Given the description of an element on the screen output the (x, y) to click on. 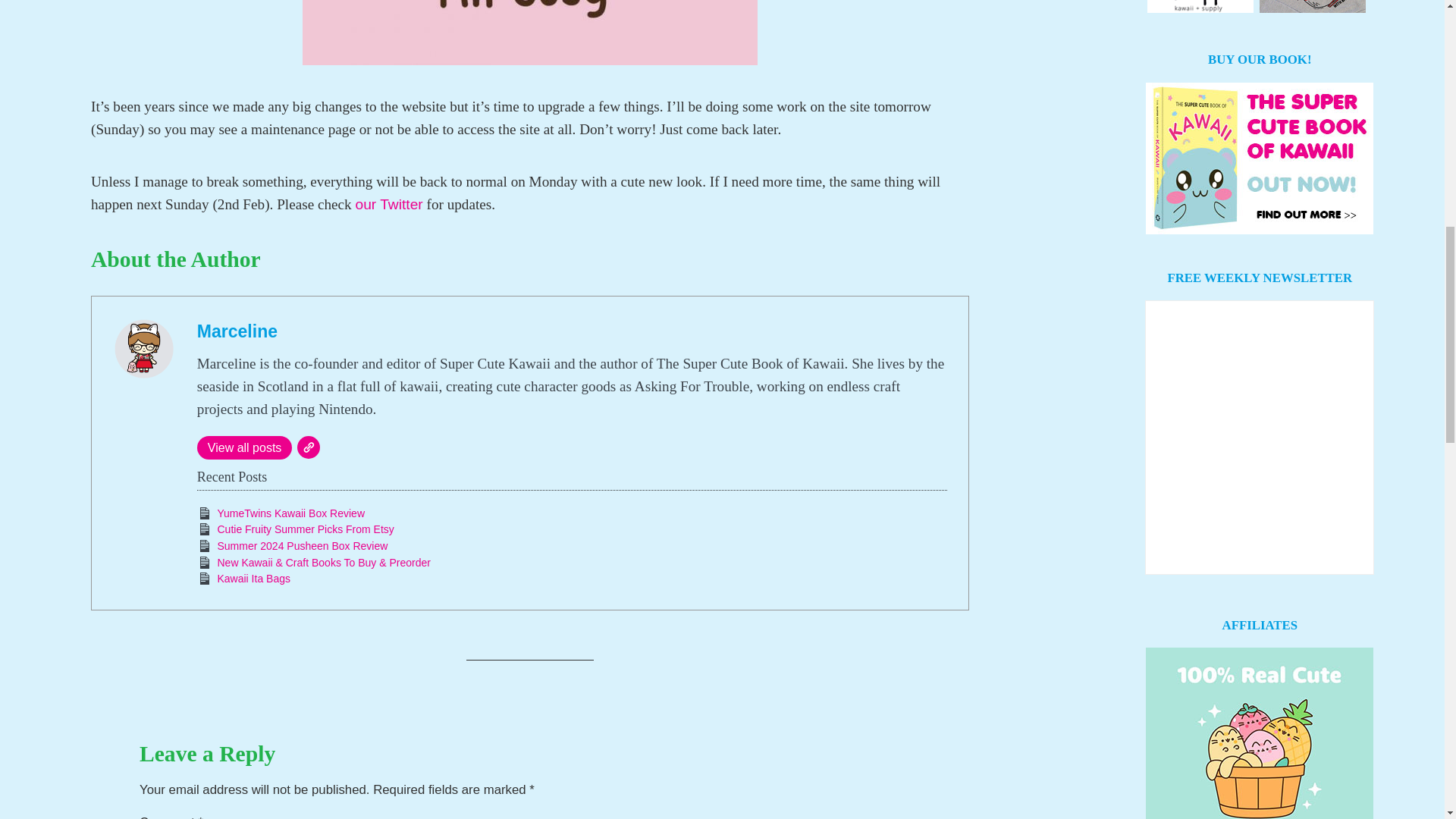
Marceline (237, 331)
Kawaii Ita Bags (252, 578)
View all posts (244, 447)
Cutie Fruity Summer Picks From Etsy (304, 529)
YumeTwins Kawaii Box Review (290, 512)
Summer 2024 Pusheen Box Review (301, 545)
